Given the description of an element on the screen output the (x, y) to click on. 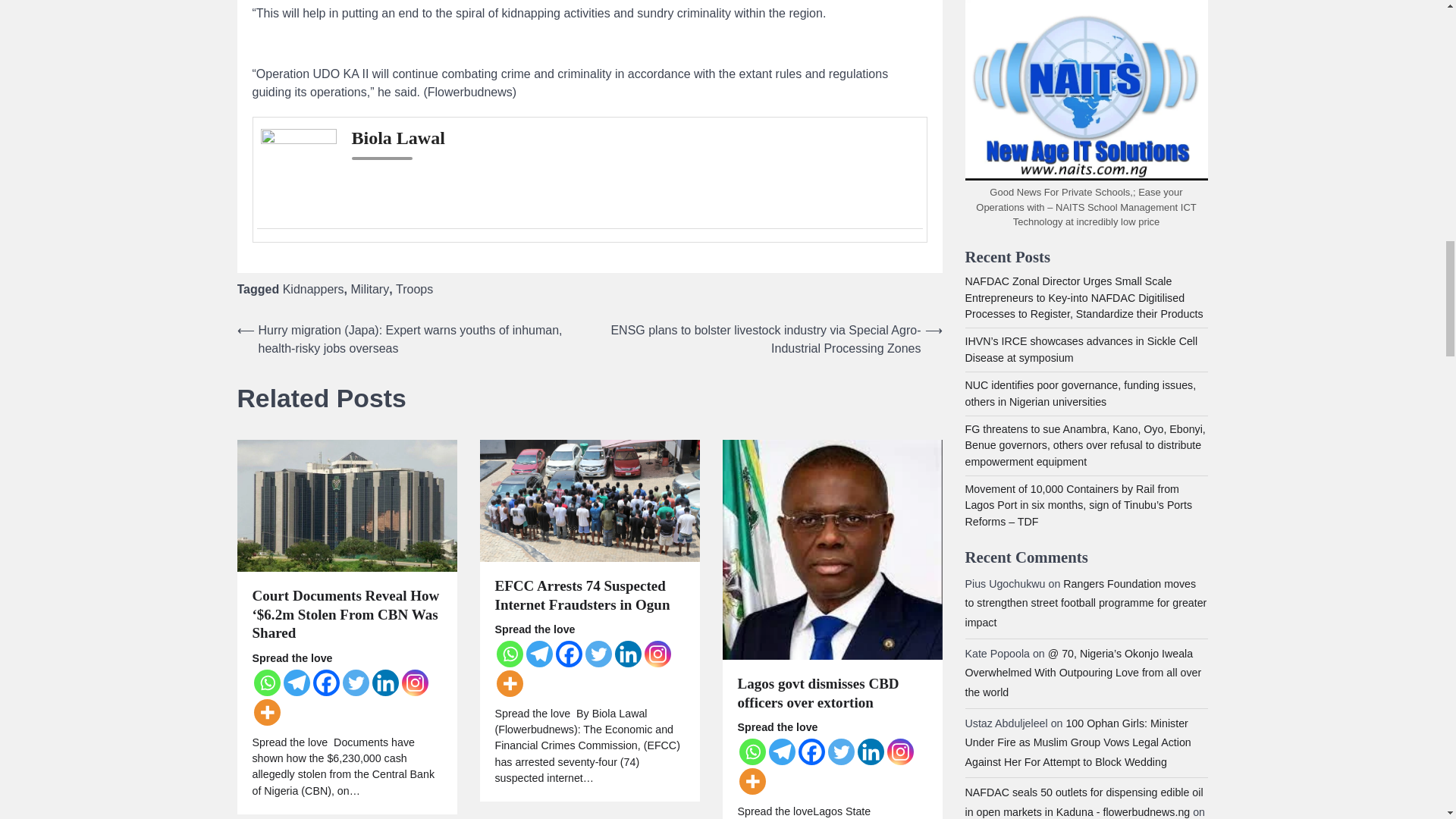
Facebook (326, 682)
Telegram (296, 682)
Linkedin (384, 682)
Whatsapp (266, 682)
More (266, 712)
Instagram (414, 682)
Twitter (355, 682)
Whatsapp (509, 653)
